Given the description of an element on the screen output the (x, y) to click on. 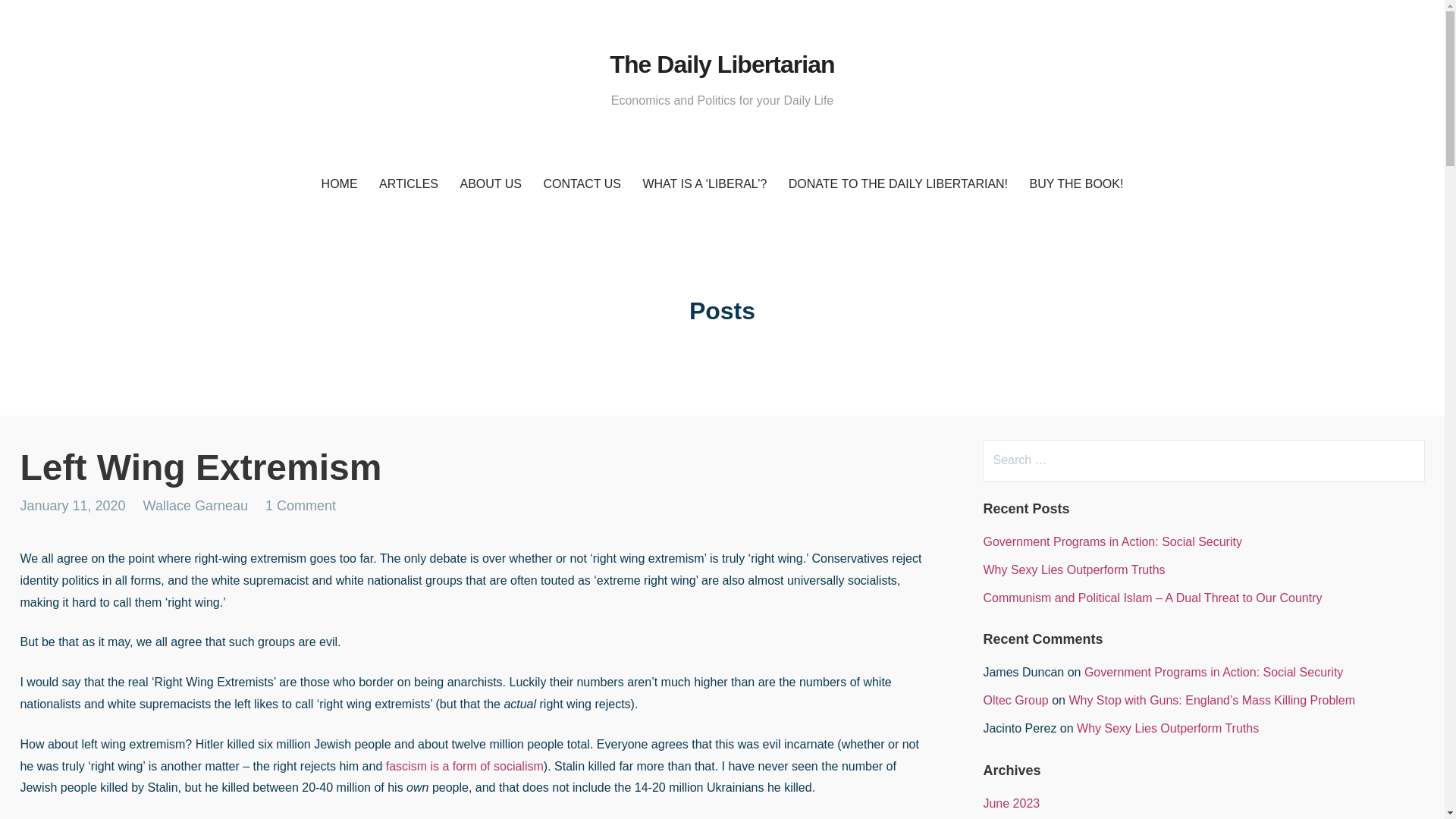
Search (42, 18)
Why Sexy Lies Outperform Truths (1073, 569)
Government Programs in Action: Social Security (1111, 541)
Why Sexy Lies Outperform Truths (1168, 727)
The Daily Libertarian (722, 63)
June 2023 (1010, 802)
DONATE TO THE DAILY LIBERTARIAN! (897, 184)
ABOUT US (490, 184)
Wallace Garneau (194, 505)
BUY THE BOOK! (1076, 184)
ARTICLES (407, 184)
Government Programs in Action: Social Security (1213, 671)
Posts by Wallace Garneau (194, 505)
1 Comment (300, 505)
Oltec Group (1015, 699)
